Given the description of an element on the screen output the (x, y) to click on. 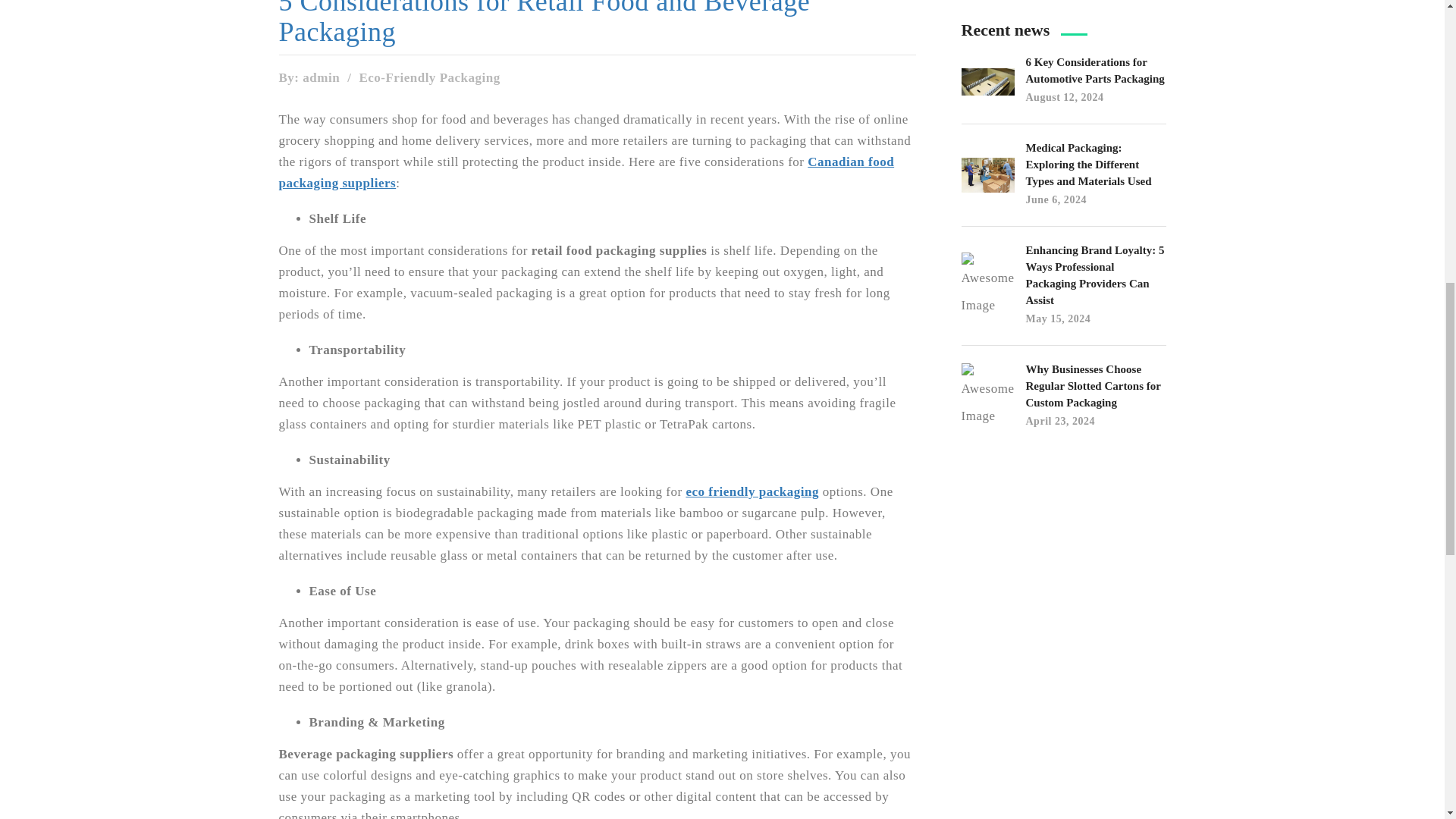
eco friendly packaging (751, 491)
admin (320, 77)
5 Considerations for Retail Food and Beverage Packaging (597, 23)
Eco-Friendly Packaging (428, 77)
Canadian food packaging suppliers (587, 172)
